Given the description of an element on the screen output the (x, y) to click on. 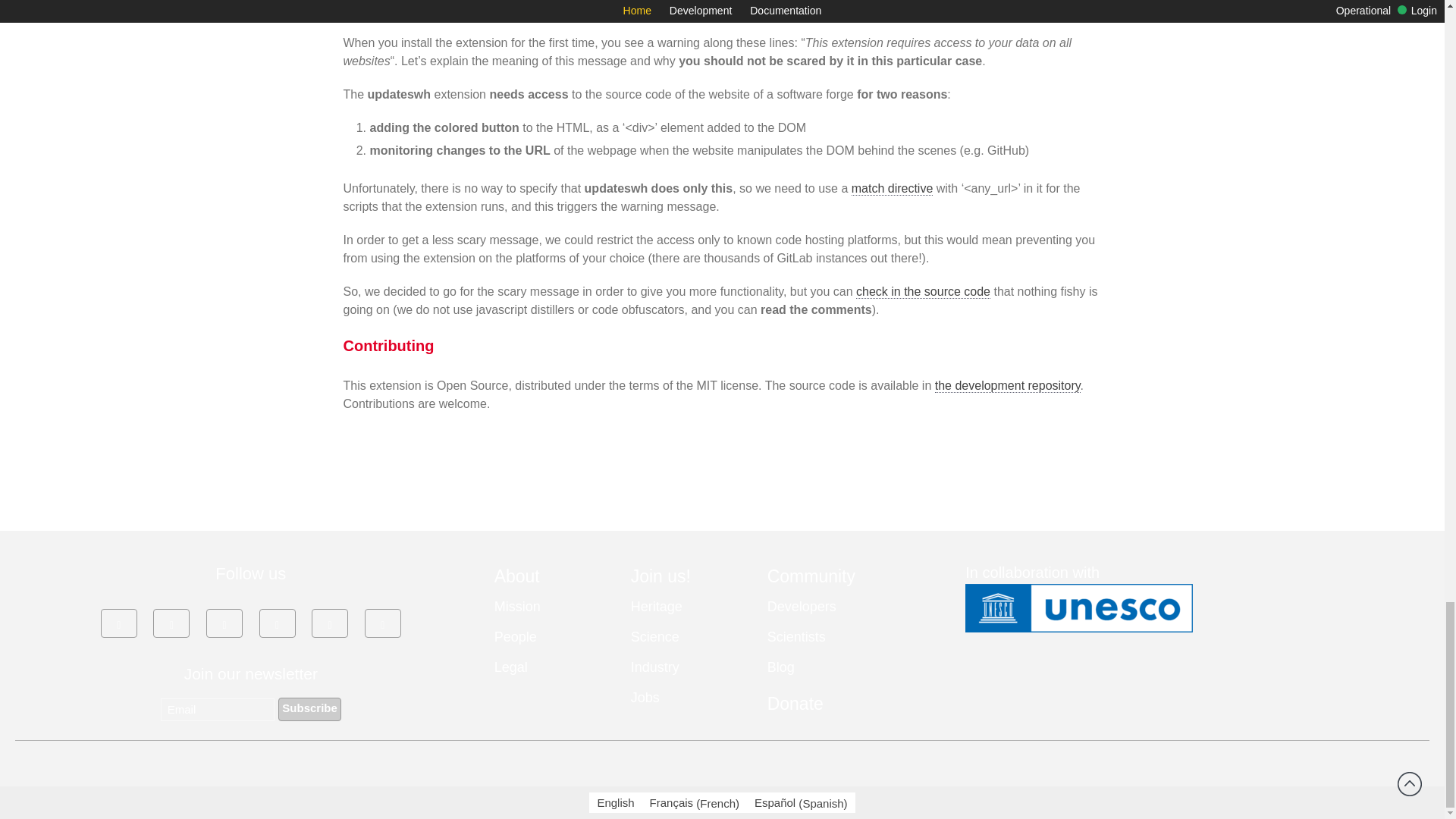
Subscribe (309, 709)
